Given the description of an element on the screen output the (x, y) to click on. 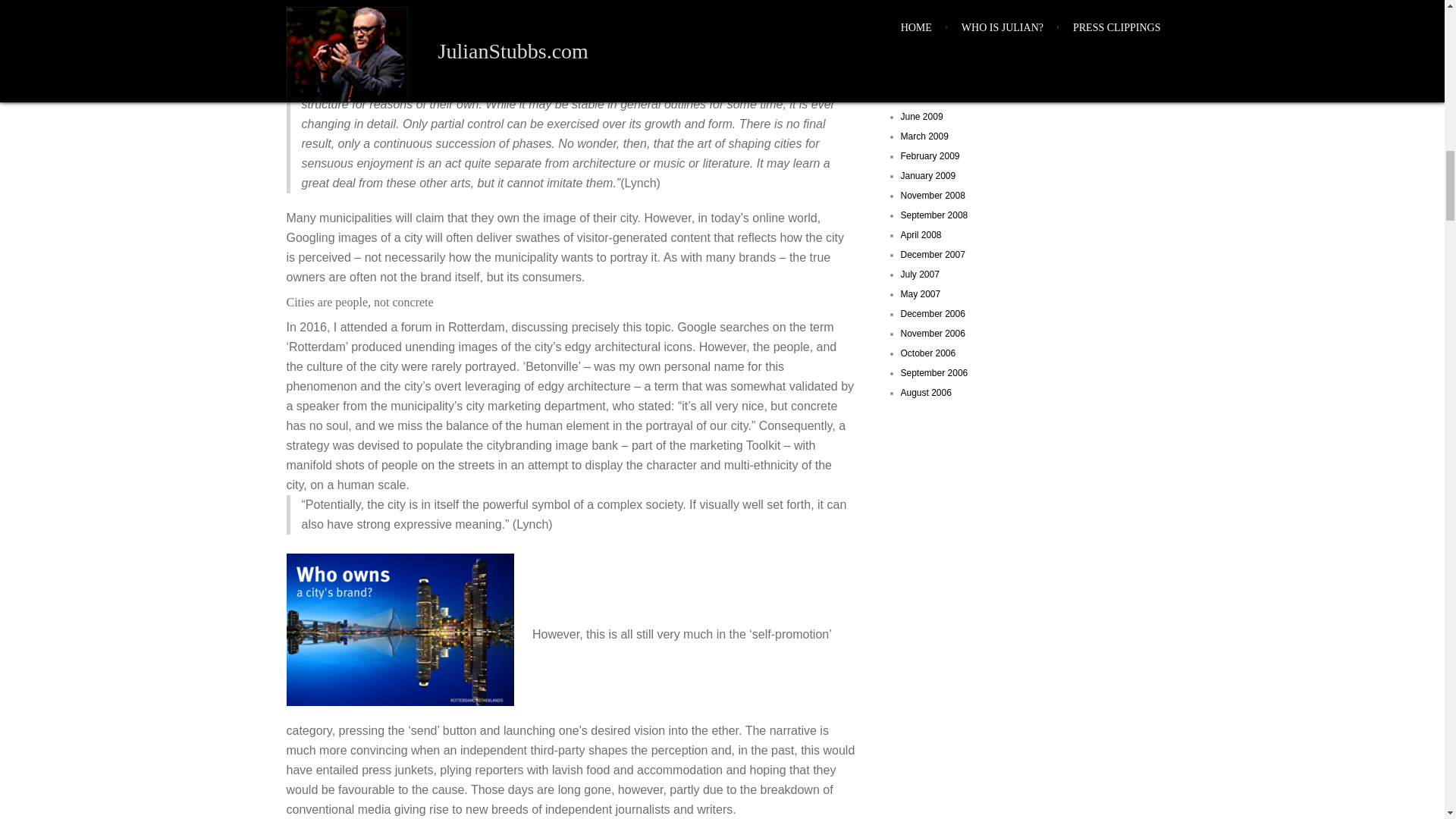
New Harmony (744, 6)
